Given the description of an element on the screen output the (x, y) to click on. 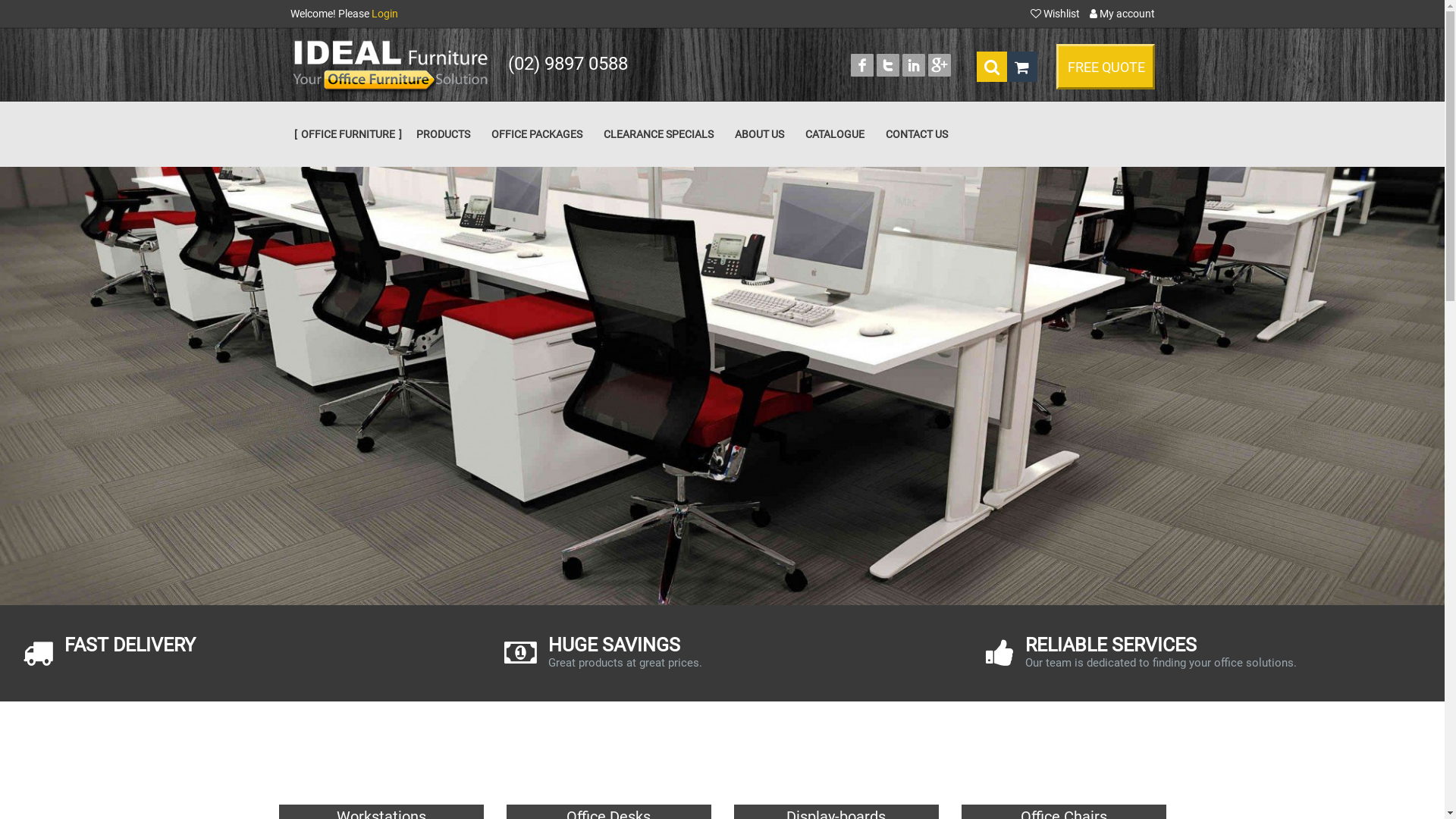
Wishlist Element type: text (1055, 13)
CLEARANCE SPECIALS Element type: text (658, 134)
OFFICE PACKAGES Element type: text (536, 134)
ABOUT US Element type: text (758, 134)
Login Element type: text (384, 13)
OFFICE FURNITURE Element type: text (346, 134)
CATALOGUE Element type: text (834, 134)
My account Element type: text (1121, 13)
(02) 9897 0588 Element type: text (567, 63)
PRODUCTS Element type: text (442, 134)
CONTACT US Element type: text (916, 134)
